Given the description of an element on the screen output the (x, y) to click on. 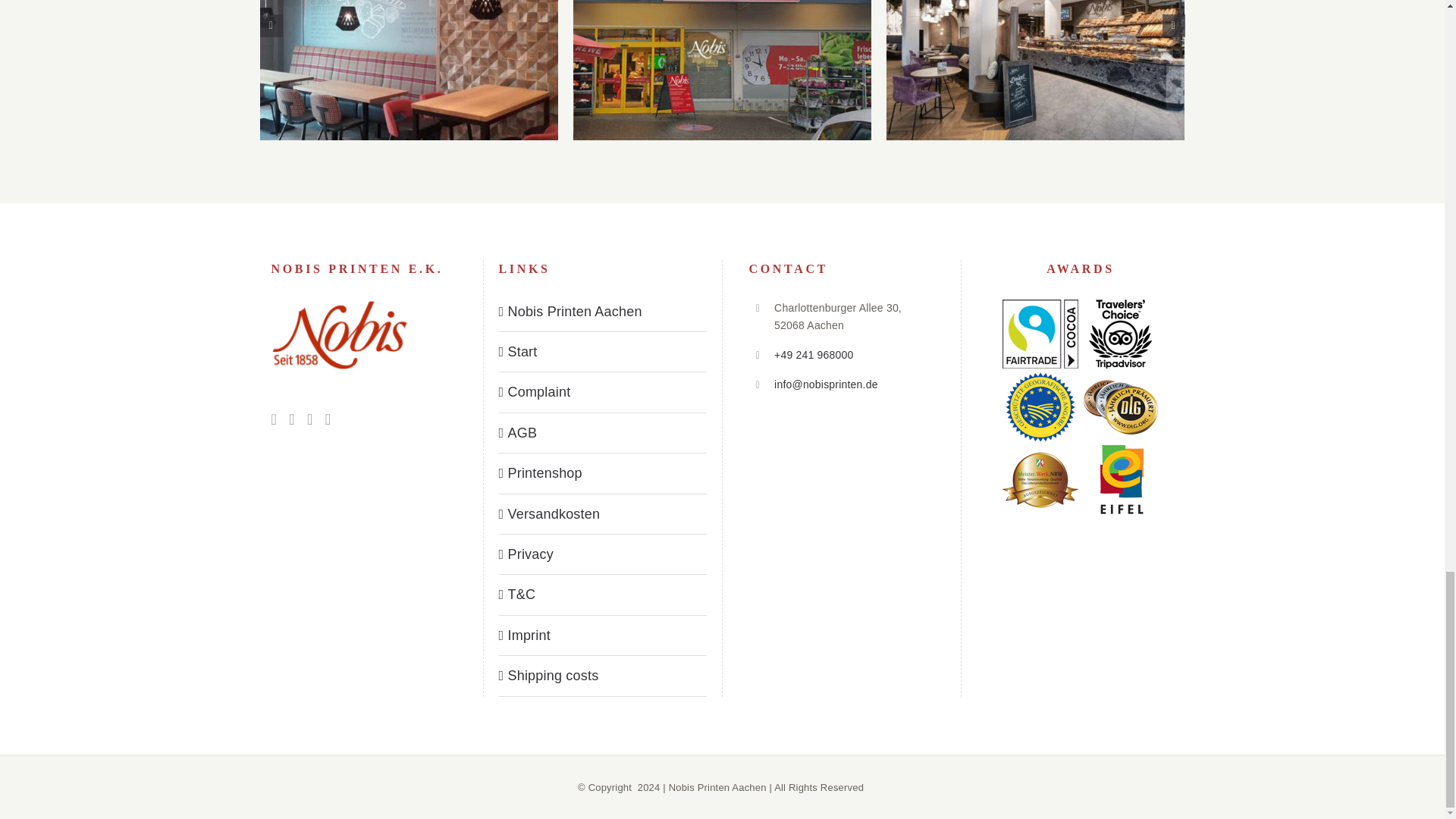
NOBIS PRINTEN E.K. (338, 335)
